Given the description of an element on the screen output the (x, y) to click on. 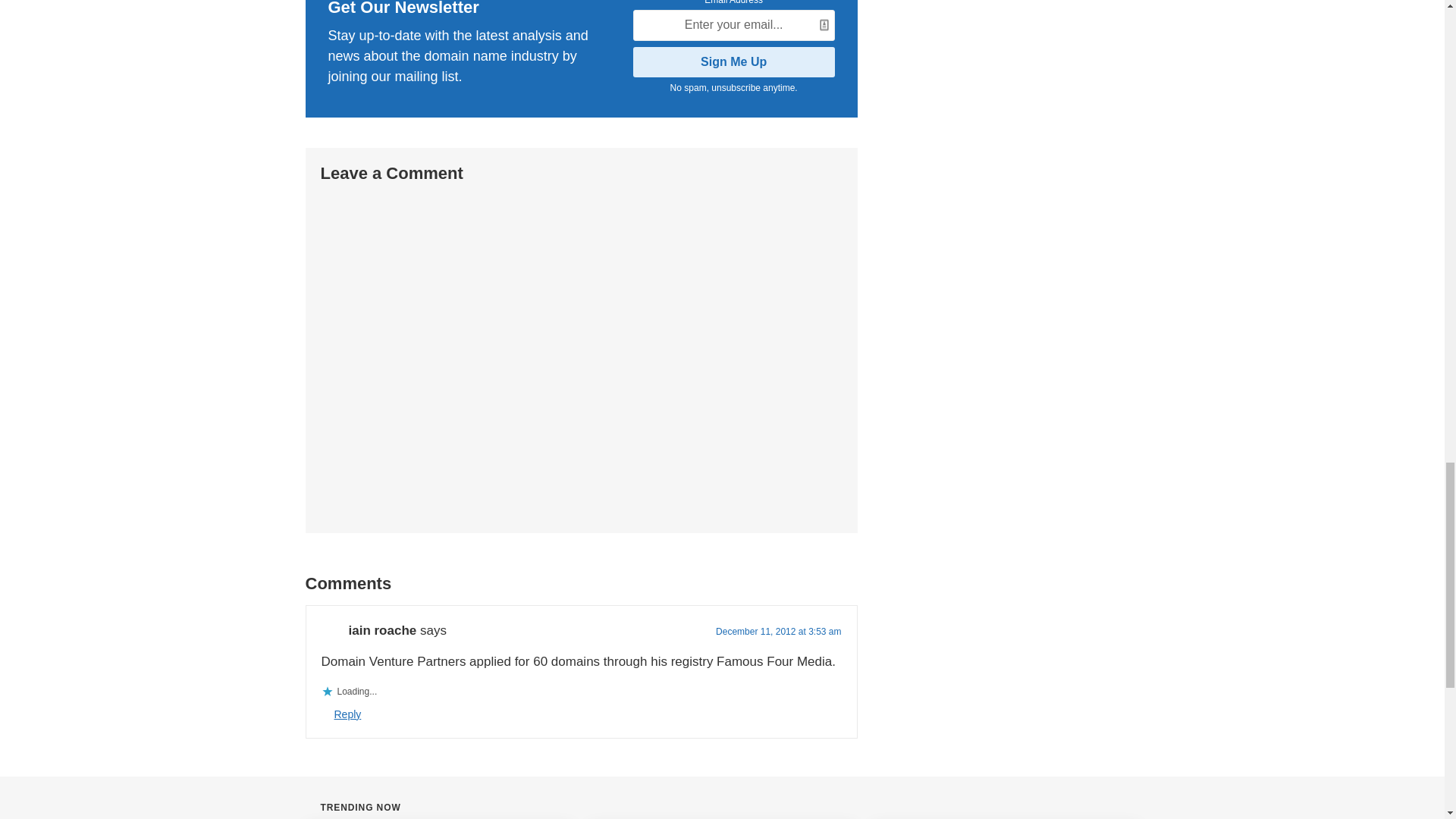
Sign Me Up (733, 61)
